Given the description of an element on the screen output the (x, y) to click on. 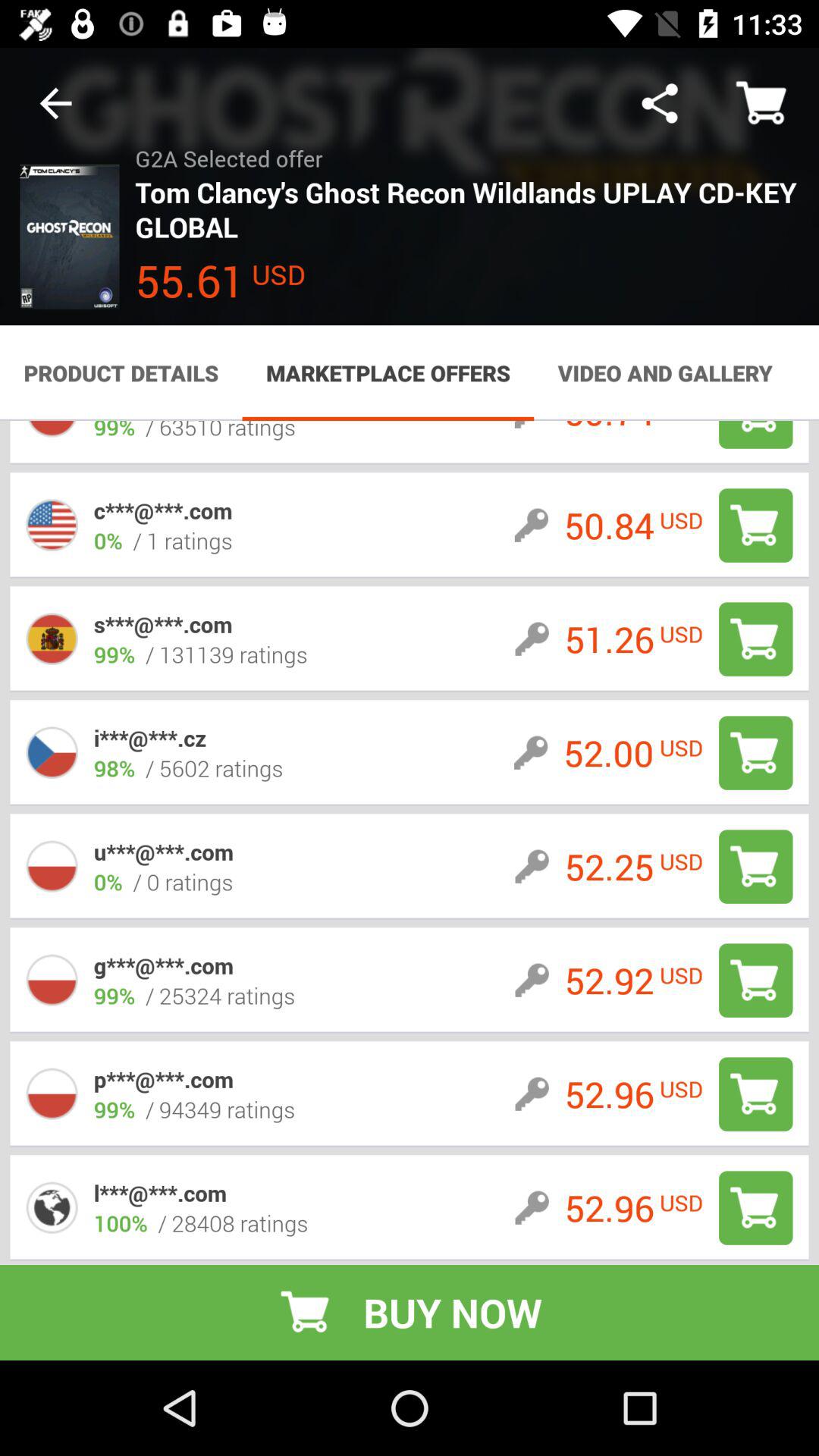
add to cart (755, 752)
